Given the description of an element on the screen output the (x, y) to click on. 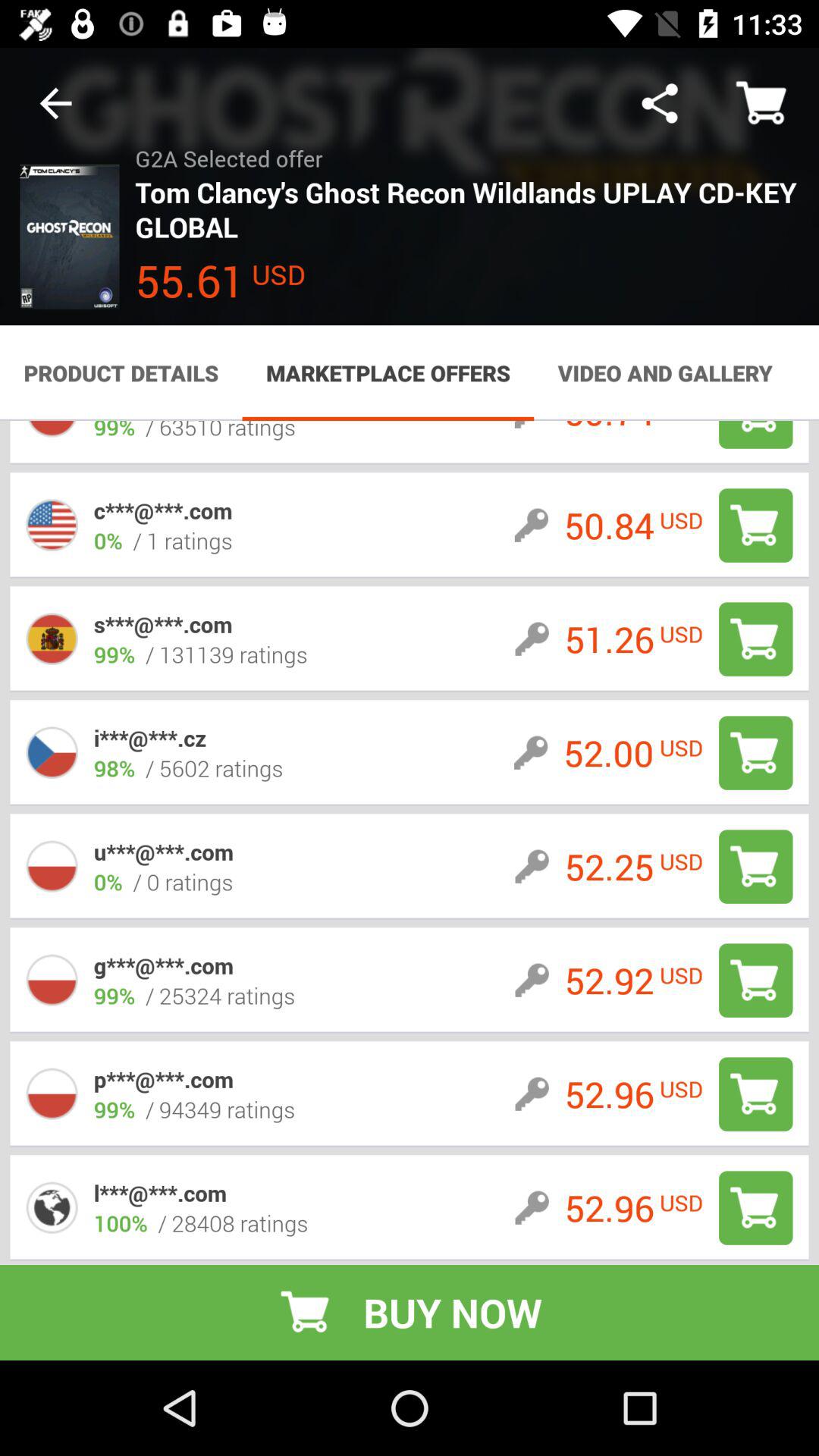
add to cart (755, 752)
